Given the description of an element on the screen output the (x, y) to click on. 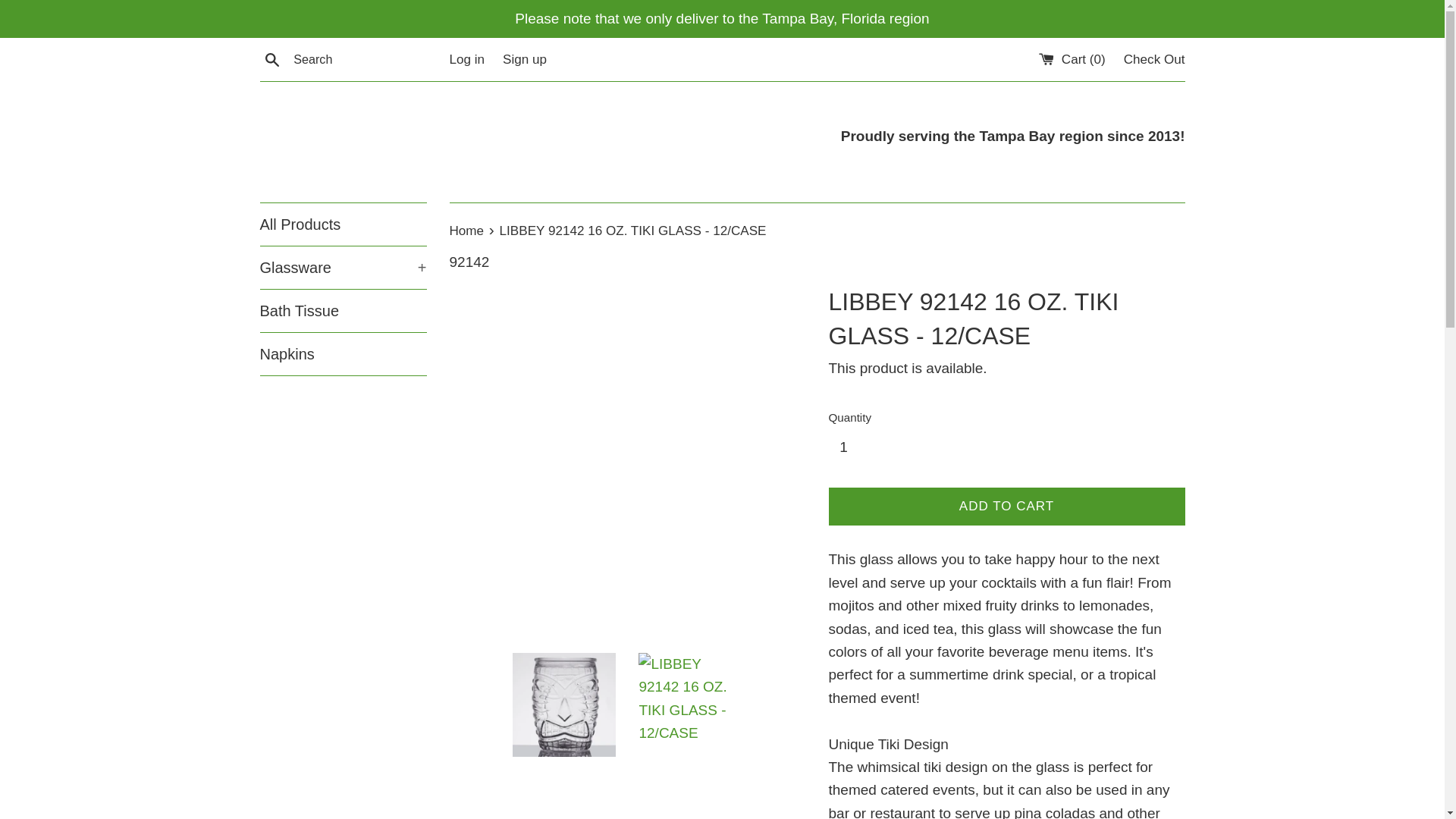
ADD TO CART (1006, 506)
Search (271, 58)
Back to the frontpage (467, 230)
Home (467, 230)
1 (848, 447)
Check Out (1154, 59)
Log in (466, 59)
Bath Tissue (342, 310)
Napkins (342, 353)
All Products (342, 224)
